Given the description of an element on the screen output the (x, y) to click on. 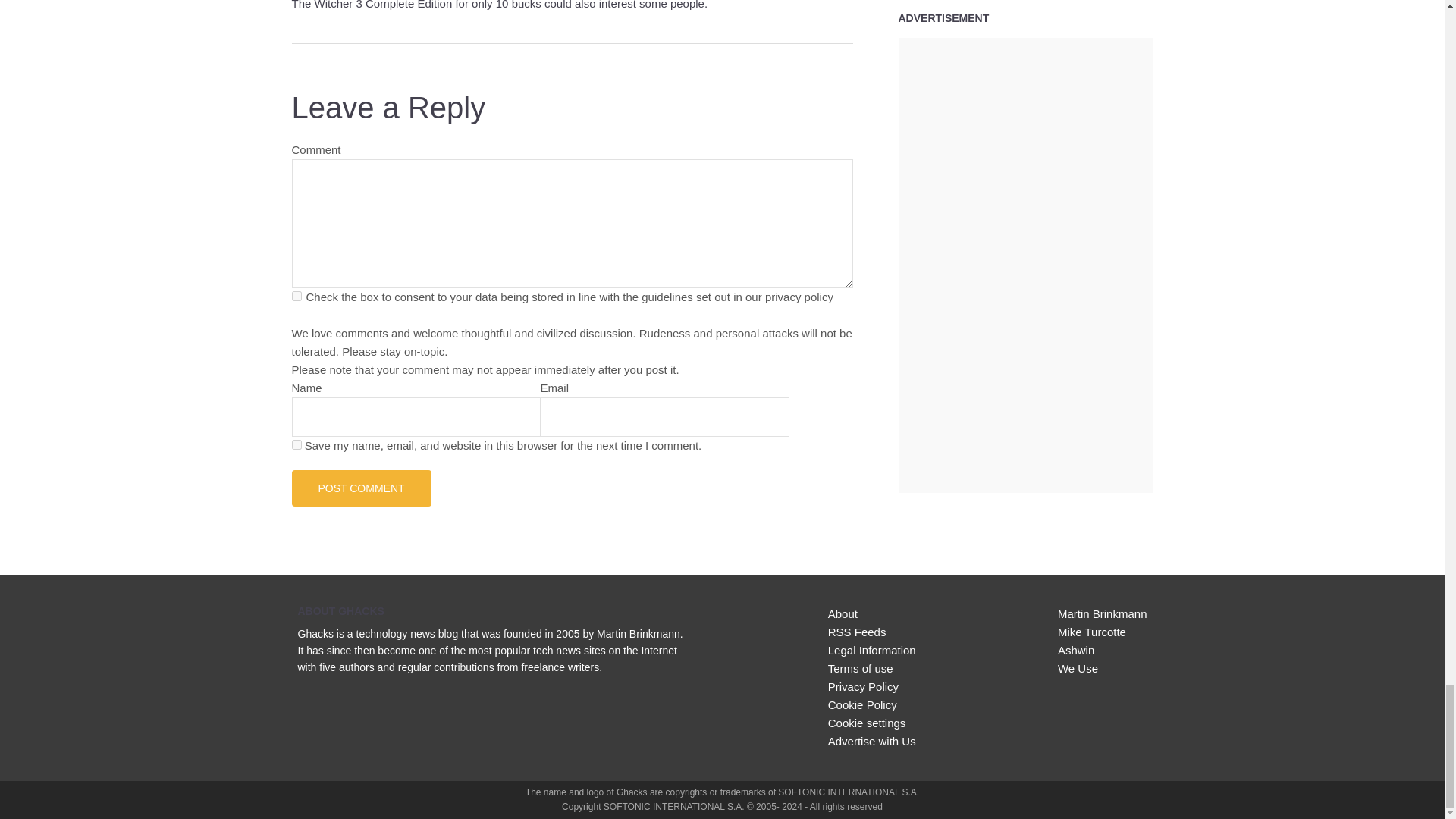
privacy-key (296, 296)
yes (296, 443)
Post Comment (360, 487)
